Given the description of an element on the screen output the (x, y) to click on. 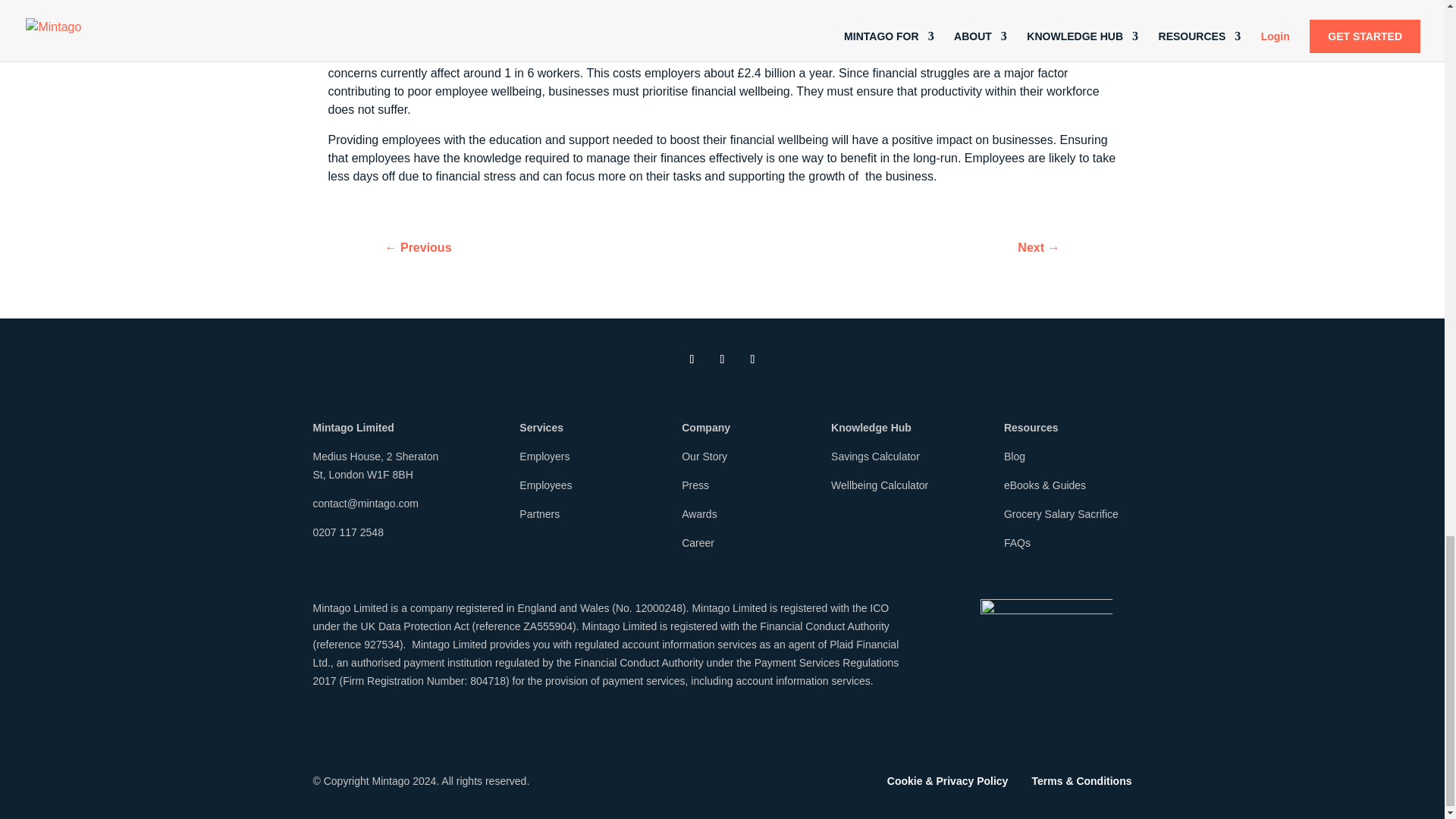
Follow on X (721, 359)
Our Story (703, 456)
Employers (544, 456)
Partners (539, 513)
Employees (545, 485)
Follow on Facebook (751, 359)
Wellbeing Calculator (879, 485)
Blog (1014, 456)
Savings Calculator (875, 456)
Grocery Salary Sacrifice (1061, 513)
